Given the description of an element on the screen output the (x, y) to click on. 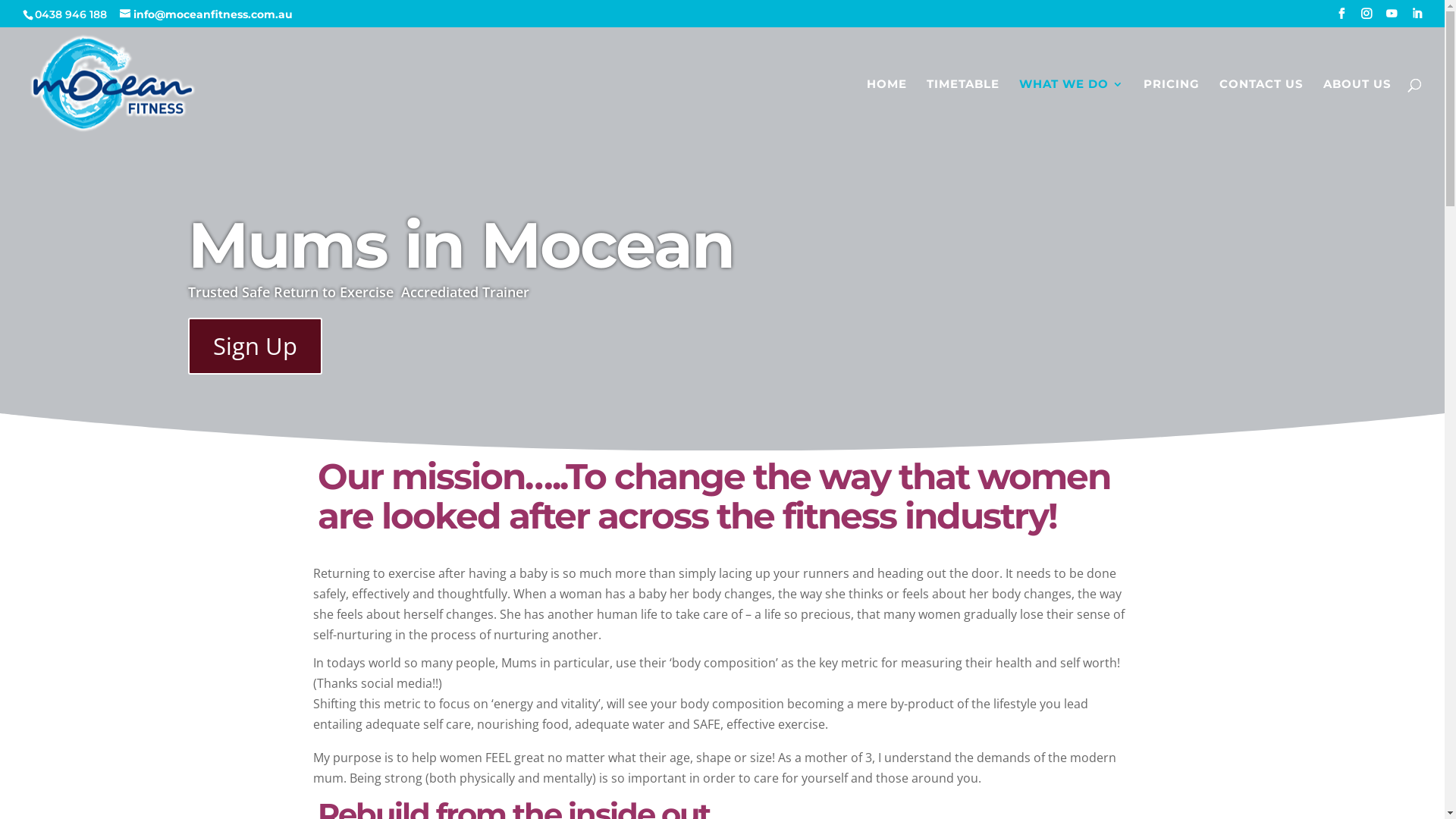
Mums in Mocean Element type: text (461, 244)
HOME Element type: text (886, 109)
ABOUT US Element type: text (1357, 109)
Sign Up Element type: text (255, 345)
CONTACT US Element type: text (1261, 109)
info@moceanfitness.com.au Element type: text (205, 14)
PRICING Element type: text (1171, 109)
TIMETABLE Element type: text (962, 109)
WHAT WE DO Element type: text (1071, 109)
